Given the description of an element on the screen output the (x, y) to click on. 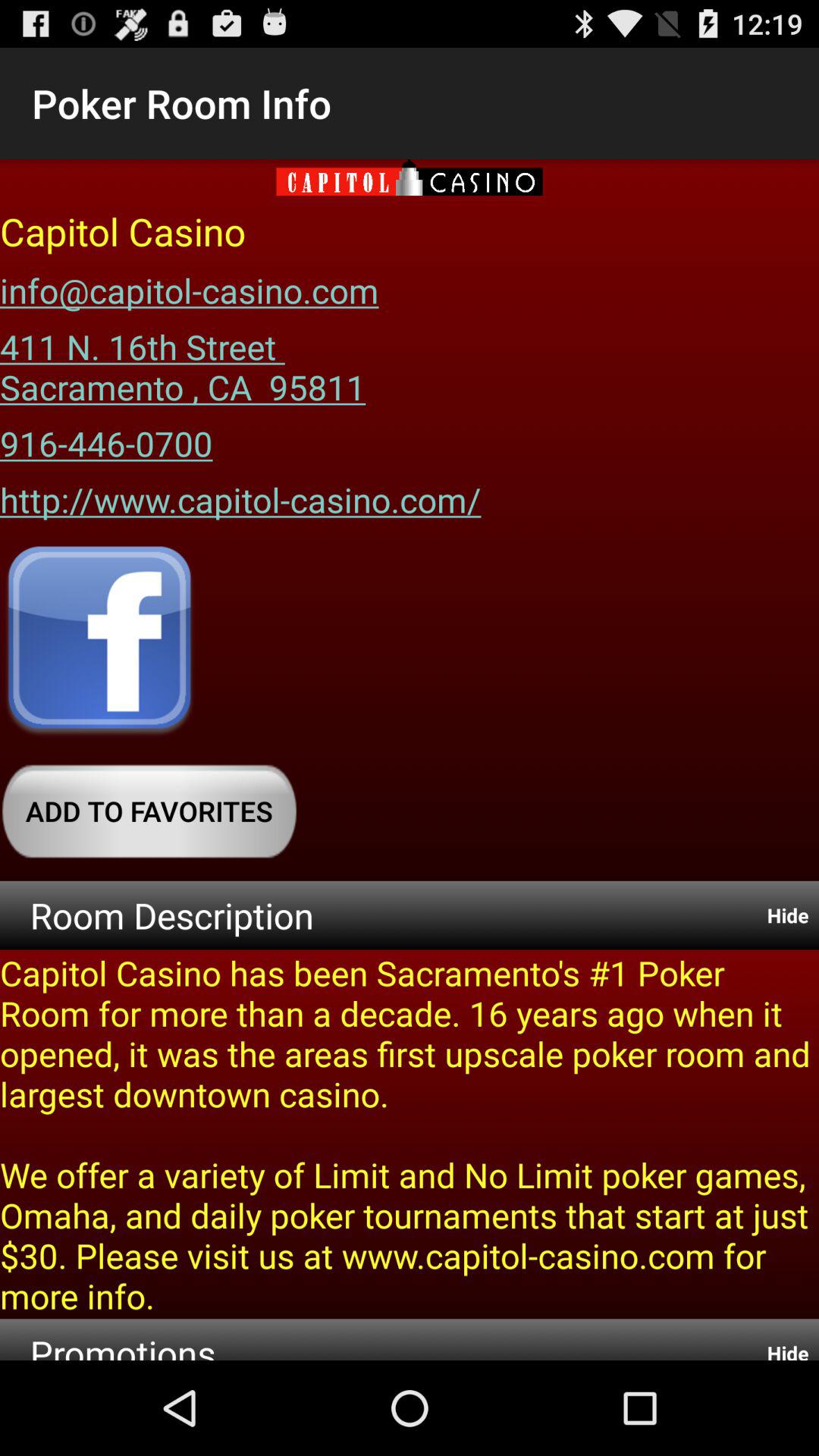
click facebook logo (99, 641)
